Given the description of an element on the screen output the (x, y) to click on. 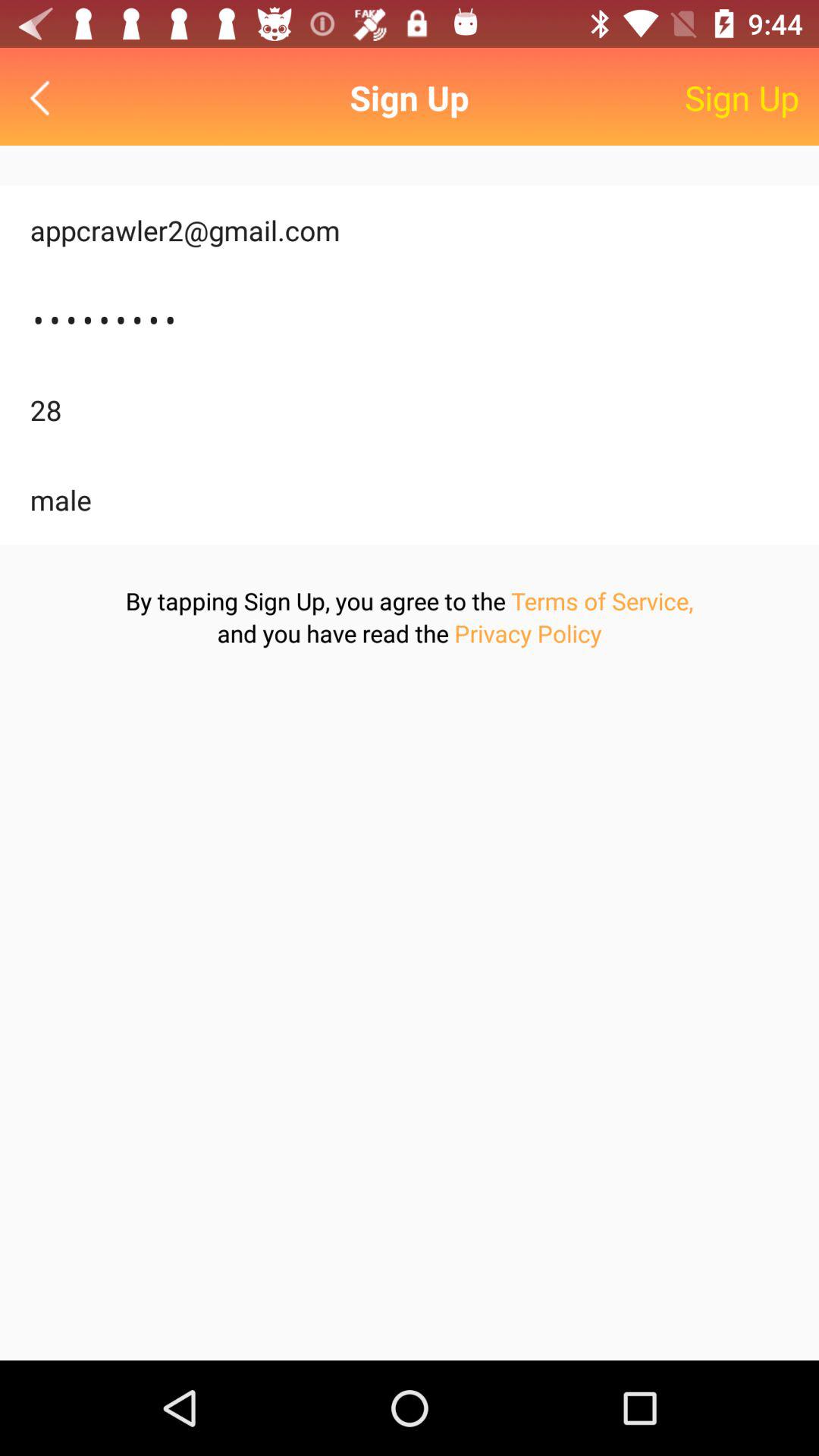
go back to last page (43, 97)
